Given the description of an element on the screen output the (x, y) to click on. 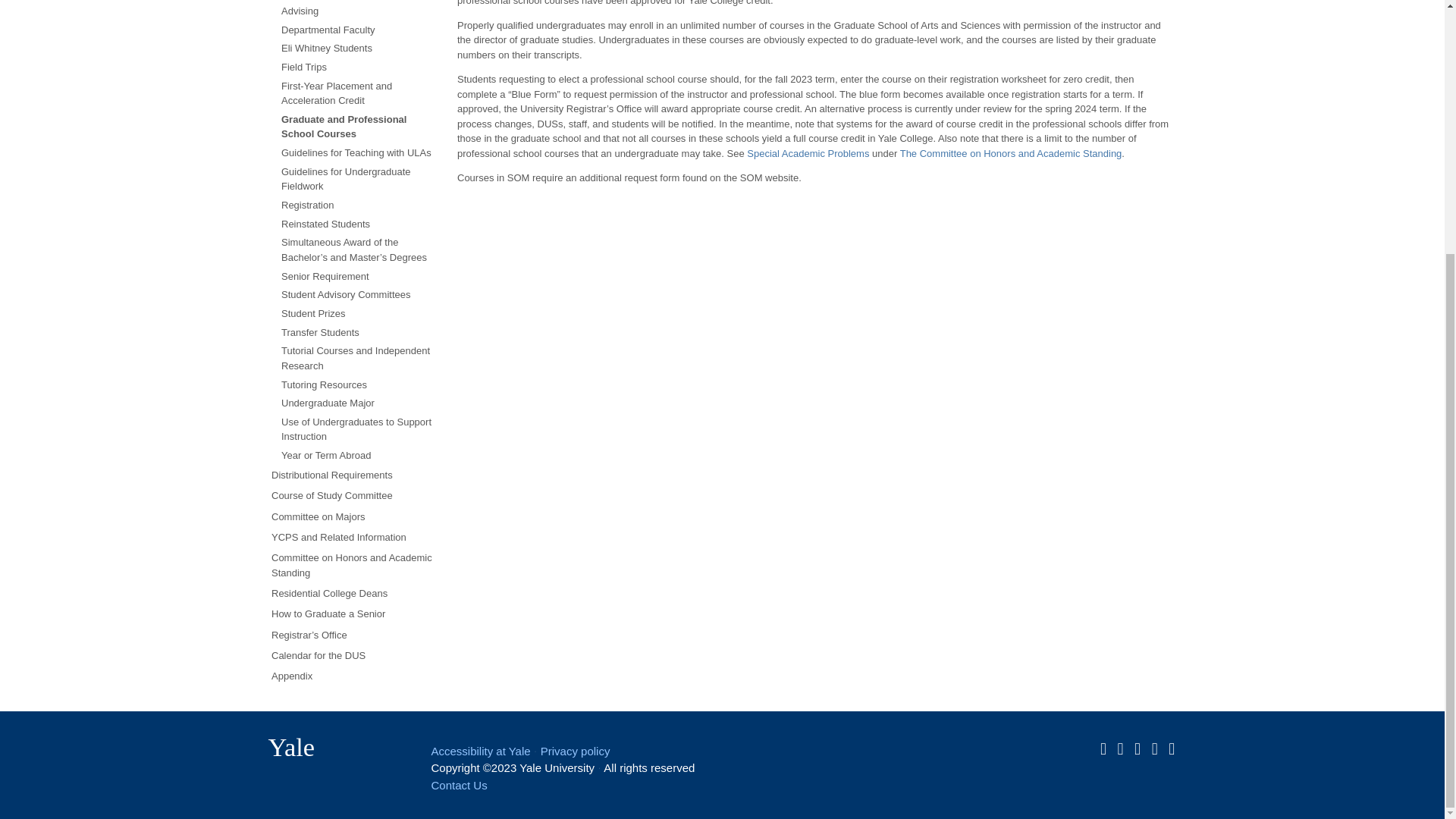
Student Prizes (360, 312)
Guidelines for Undergraduate Fieldwork (360, 178)
Student Advisory Committees (360, 294)
Tutorial Courses and Independent Research (360, 358)
Graduate and Professional School Courses (360, 126)
Field Trips (360, 66)
Eli Whitney Students  (360, 48)
Transfer Students  (360, 332)
Senior Requirement (360, 275)
